Given the description of an element on the screen output the (x, y) to click on. 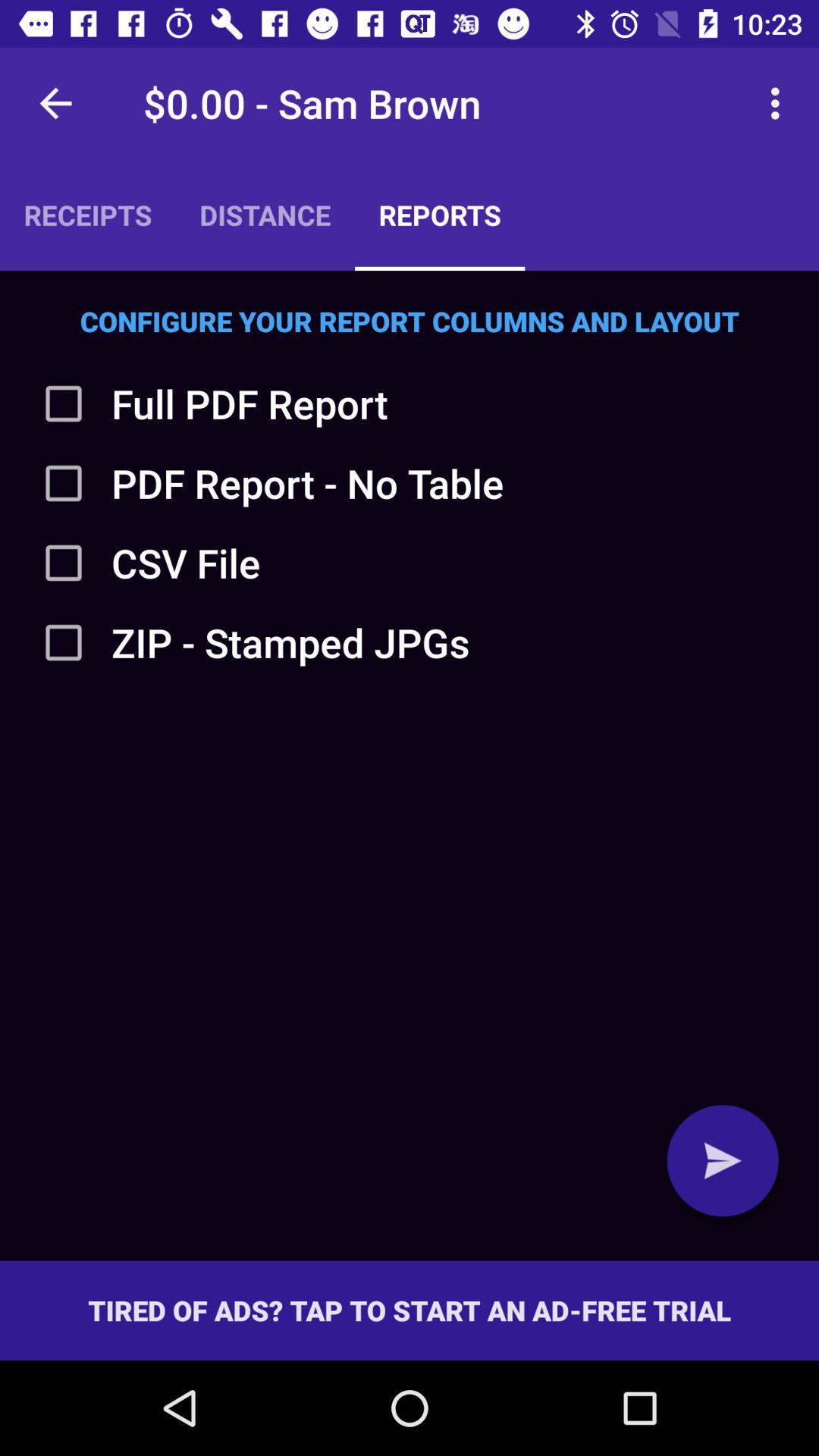
advance next (722, 1160)
